Given the description of an element on the screen output the (x, y) to click on. 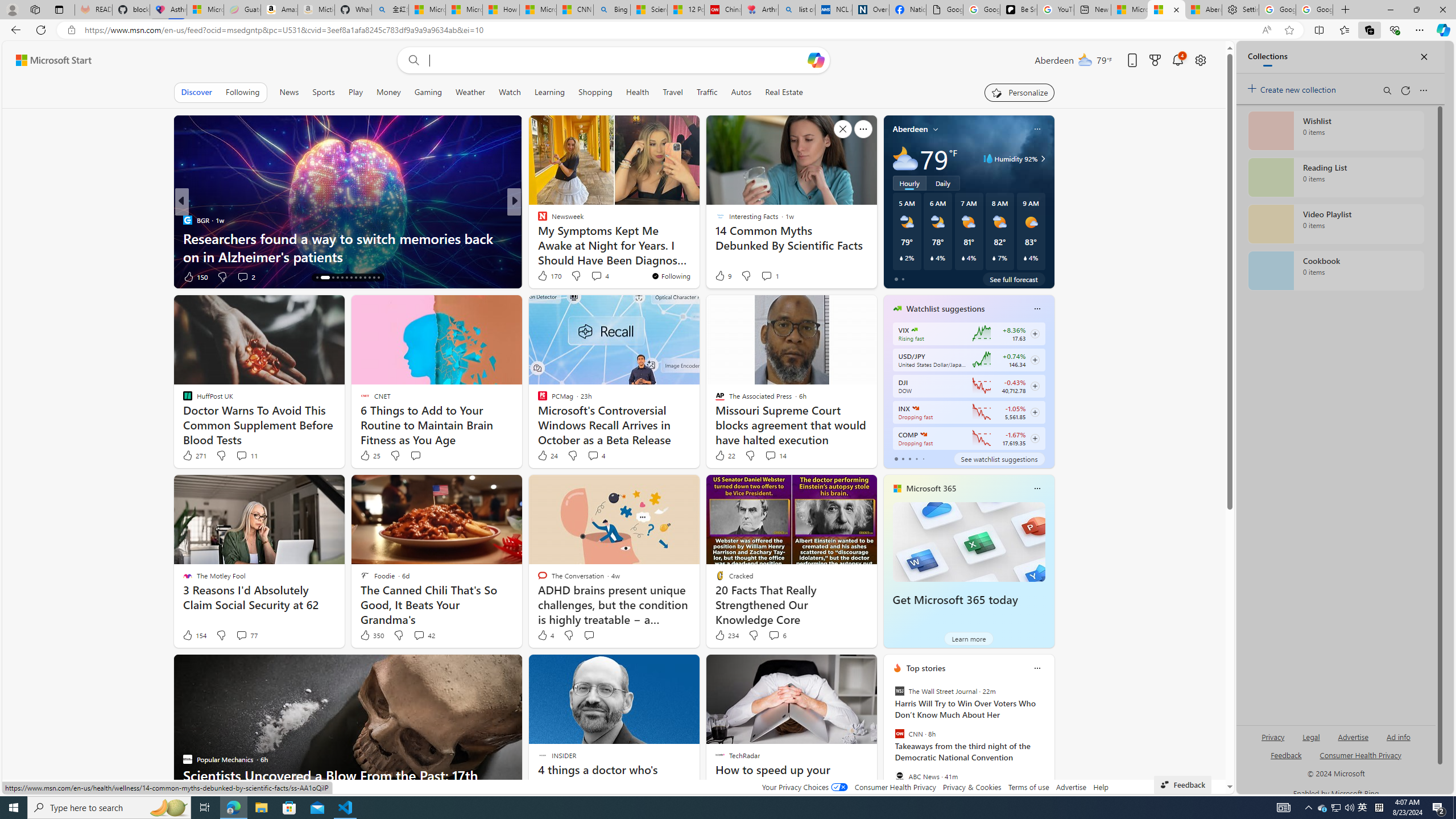
View comments 11 Comment (241, 455)
121 Like (545, 276)
CNN (898, 733)
tab-4 (923, 458)
Top stories (925, 668)
AutomationID: tab-25 (374, 277)
404 Like (545, 276)
S&P 500 (914, 407)
